Given the description of an element on the screen output the (x, y) to click on. 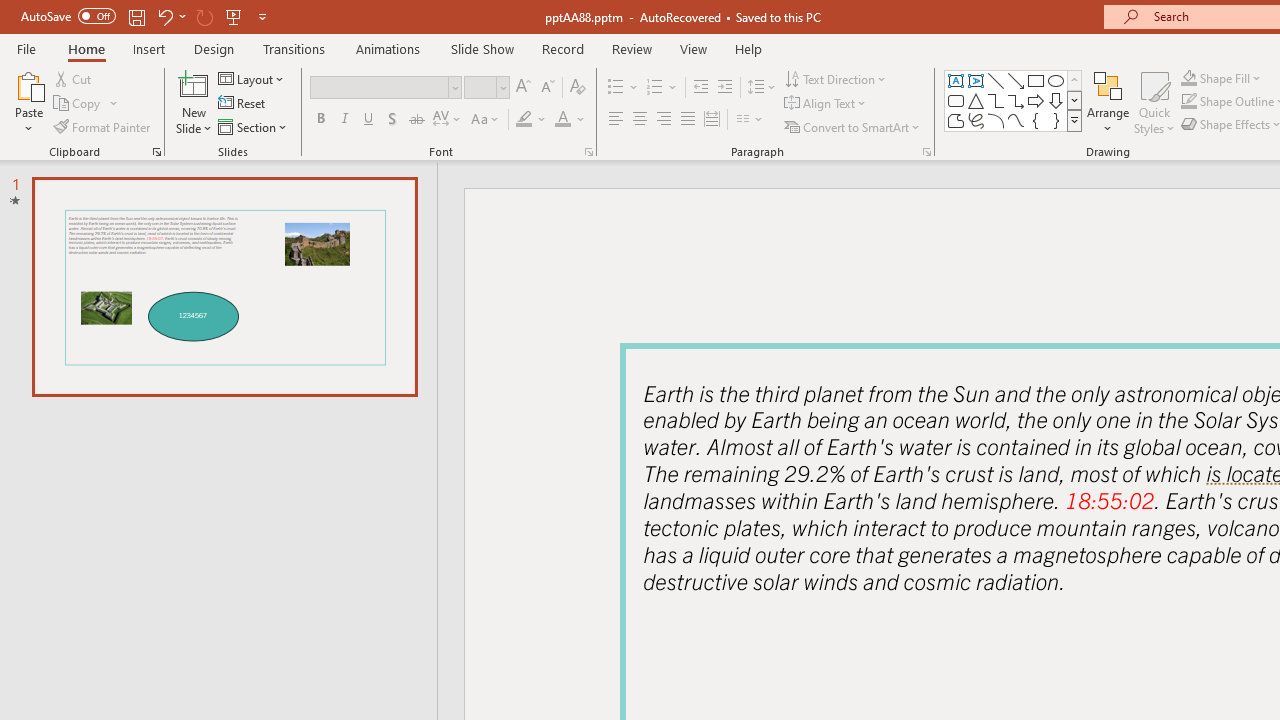
Shape Outline Teal, Accent 1 (1188, 101)
